Given the description of an element on the screen output the (x, y) to click on. 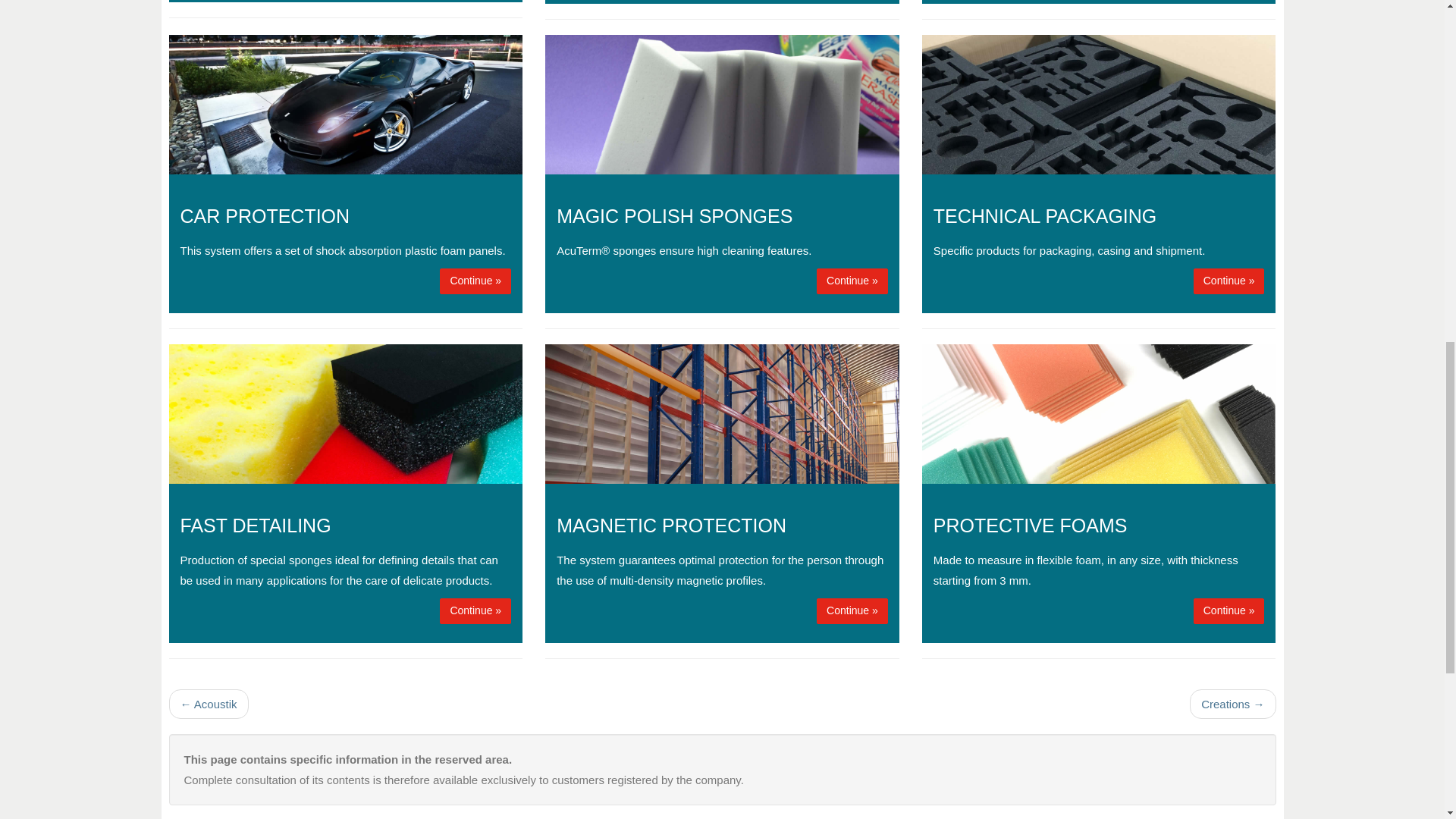
Protective foam panels (1229, 611)
